Given the description of an element on the screen output the (x, y) to click on. 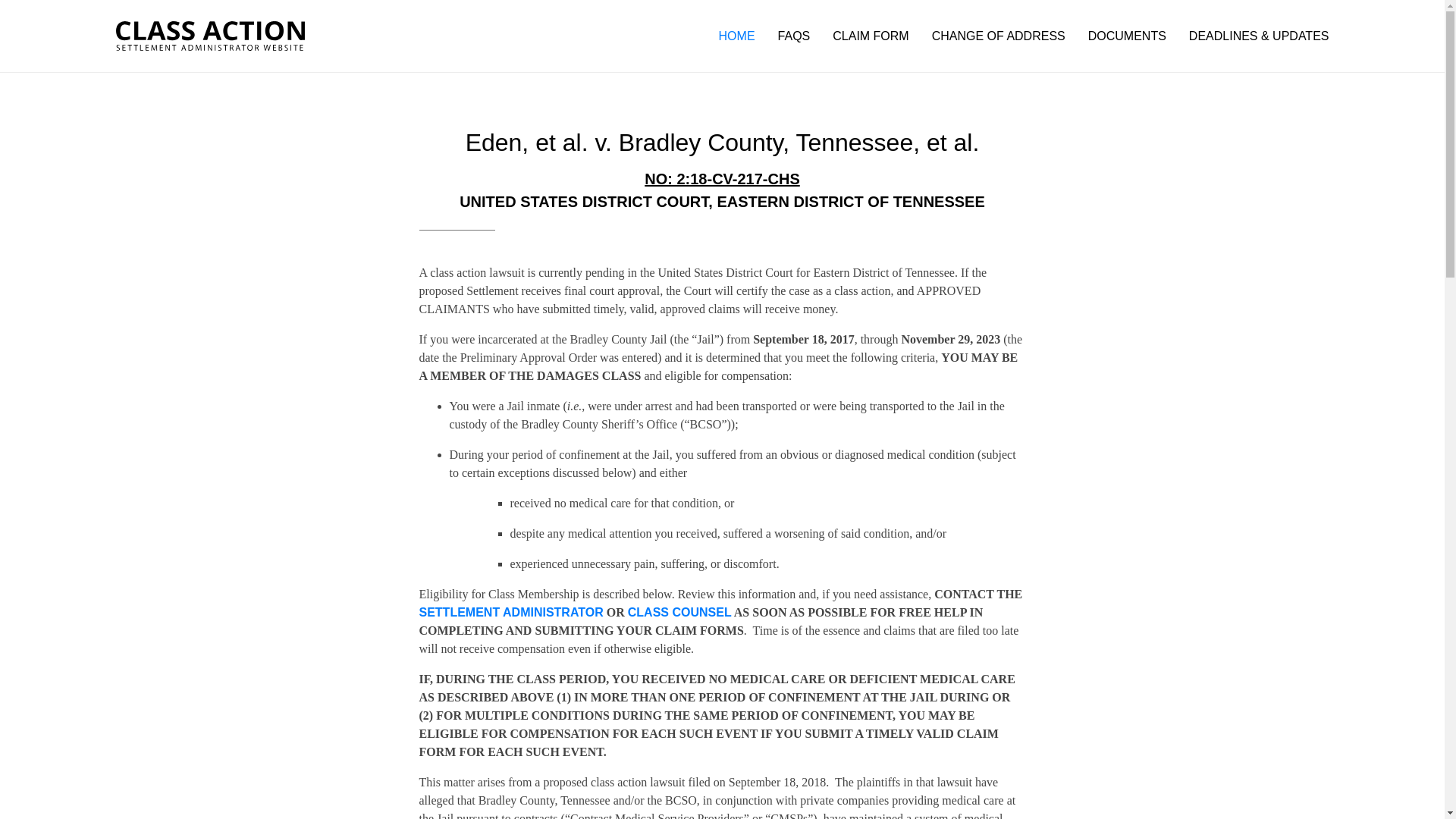
CLASS COUNSEL (679, 612)
SETTLEMENT ADMINISTRATOR (510, 612)
HOME (737, 35)
FAQS (793, 35)
CLAIM FORM (870, 35)
DOCUMENTS (1126, 35)
CHANGE OF ADDRESS (998, 35)
